Given the description of an element on the screen output the (x, y) to click on. 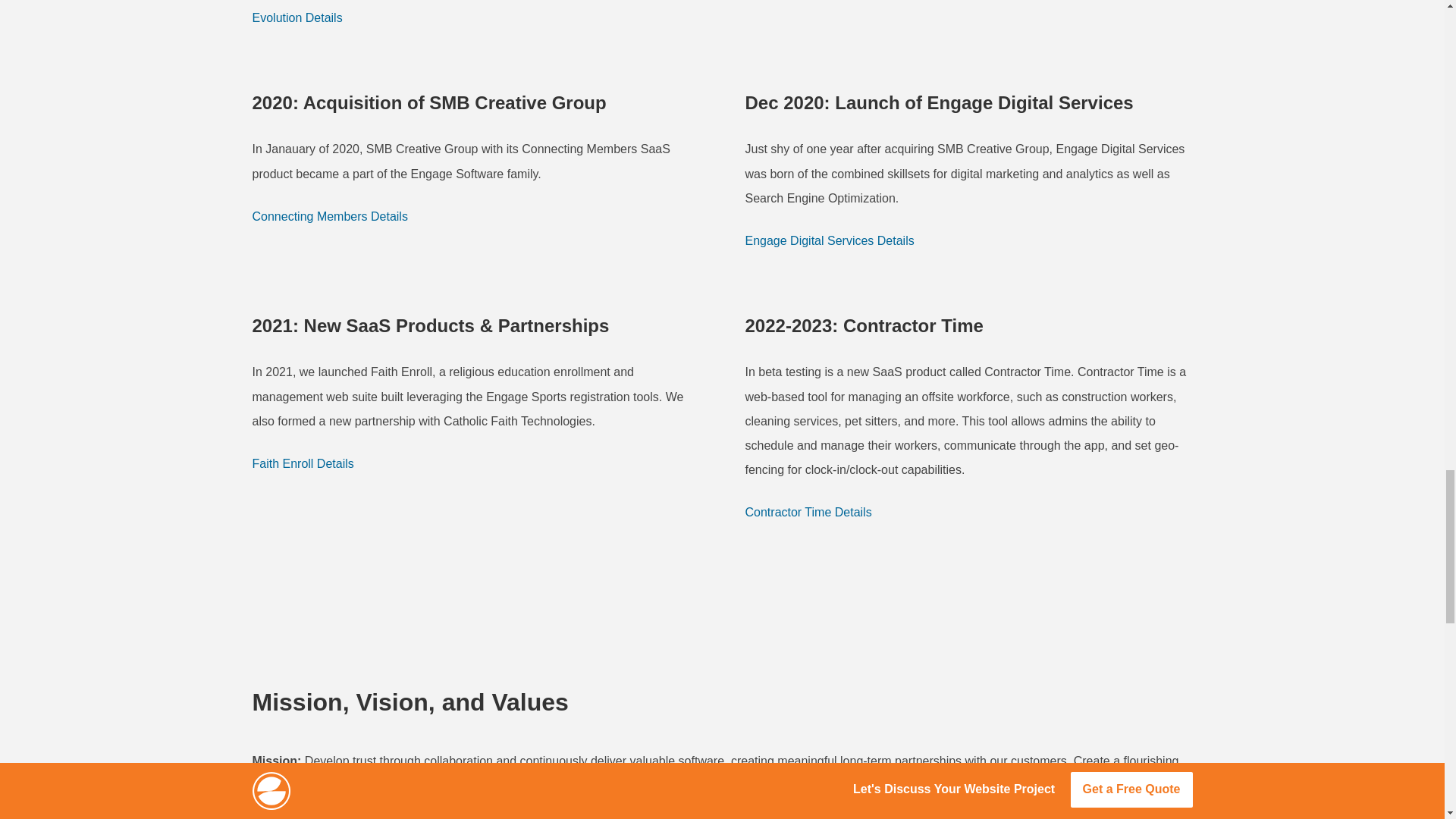
Engage Digital Services Details (829, 241)
Connecting Members Details (329, 216)
Evolution Details (296, 17)
Contractor Time Details (807, 512)
Faith Enroll Details (302, 463)
Engage AMS Details (800, 2)
